Given the description of an element on the screen output the (x, y) to click on. 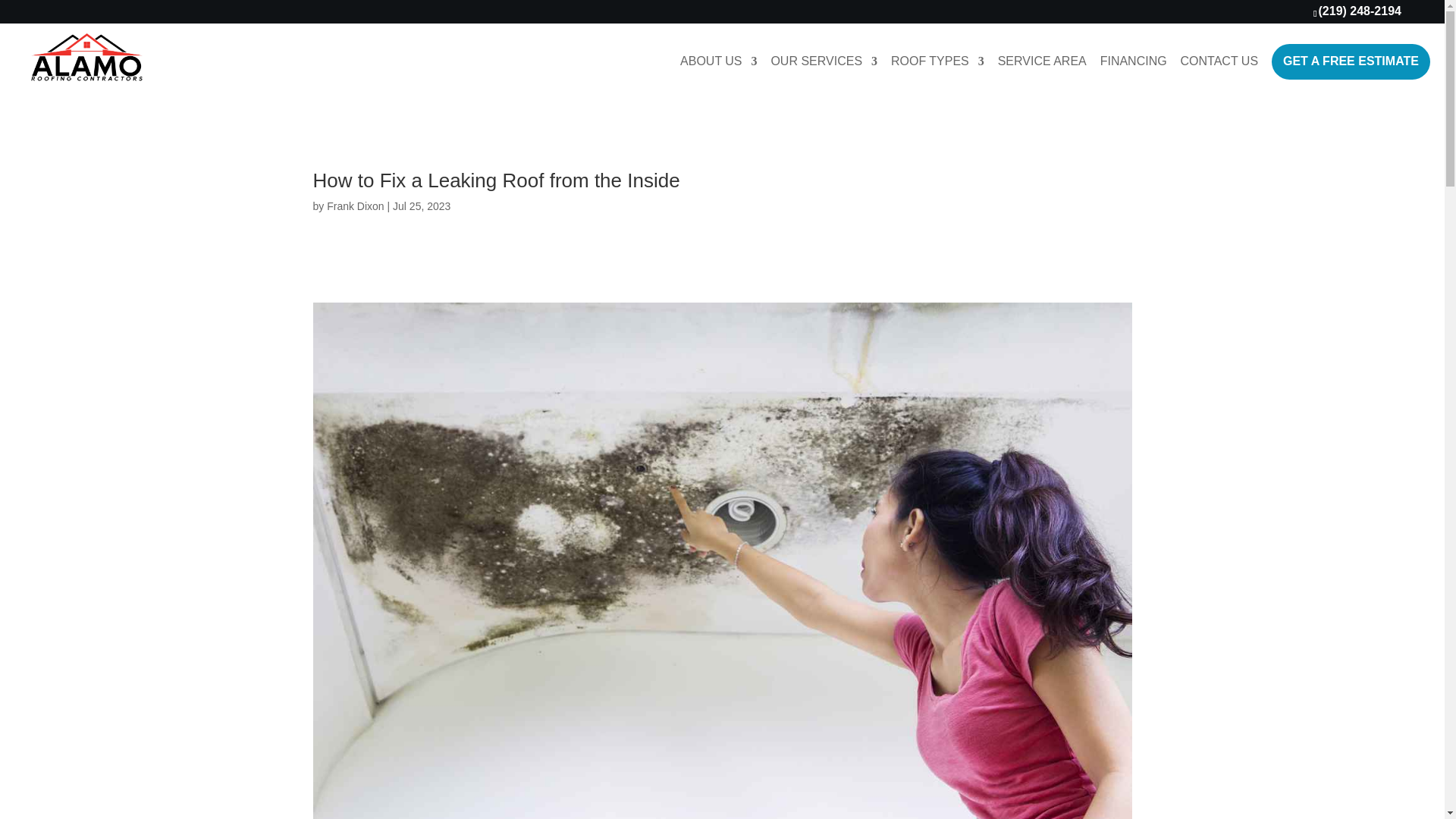
FINANCING (1133, 74)
CONTACT US (1219, 74)
Posts by Frank Dixon (355, 205)
ABOUT US (718, 74)
ROOF TYPES (937, 74)
GET A FREE ESTIMATE (1350, 61)
OUR SERVICES (823, 74)
Frank Dixon (355, 205)
SERVICE AREA (1041, 74)
